Given the description of an element on the screen output the (x, y) to click on. 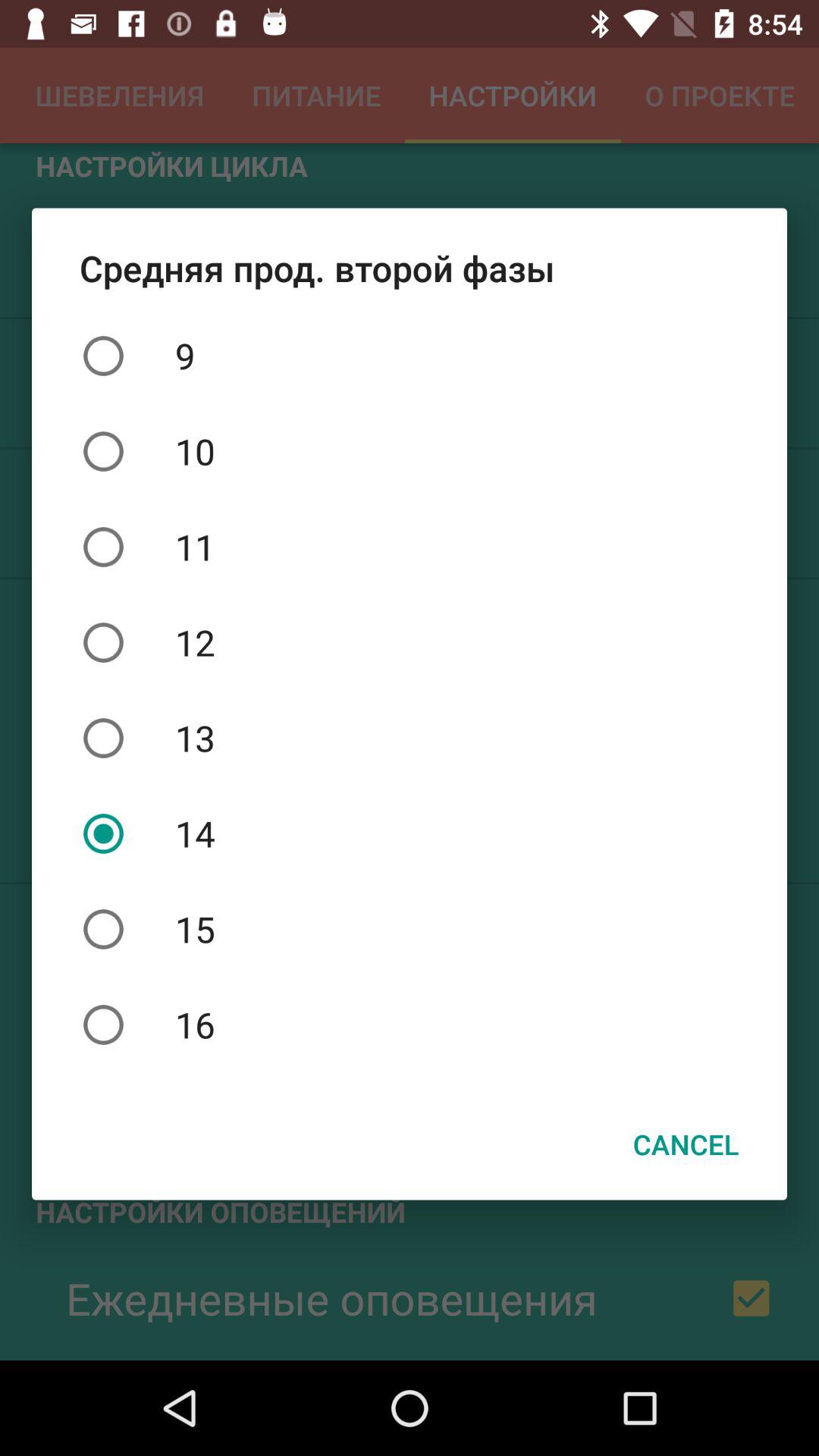
turn on icon below the 13 (409, 833)
